Given the description of an element on the screen output the (x, y) to click on. 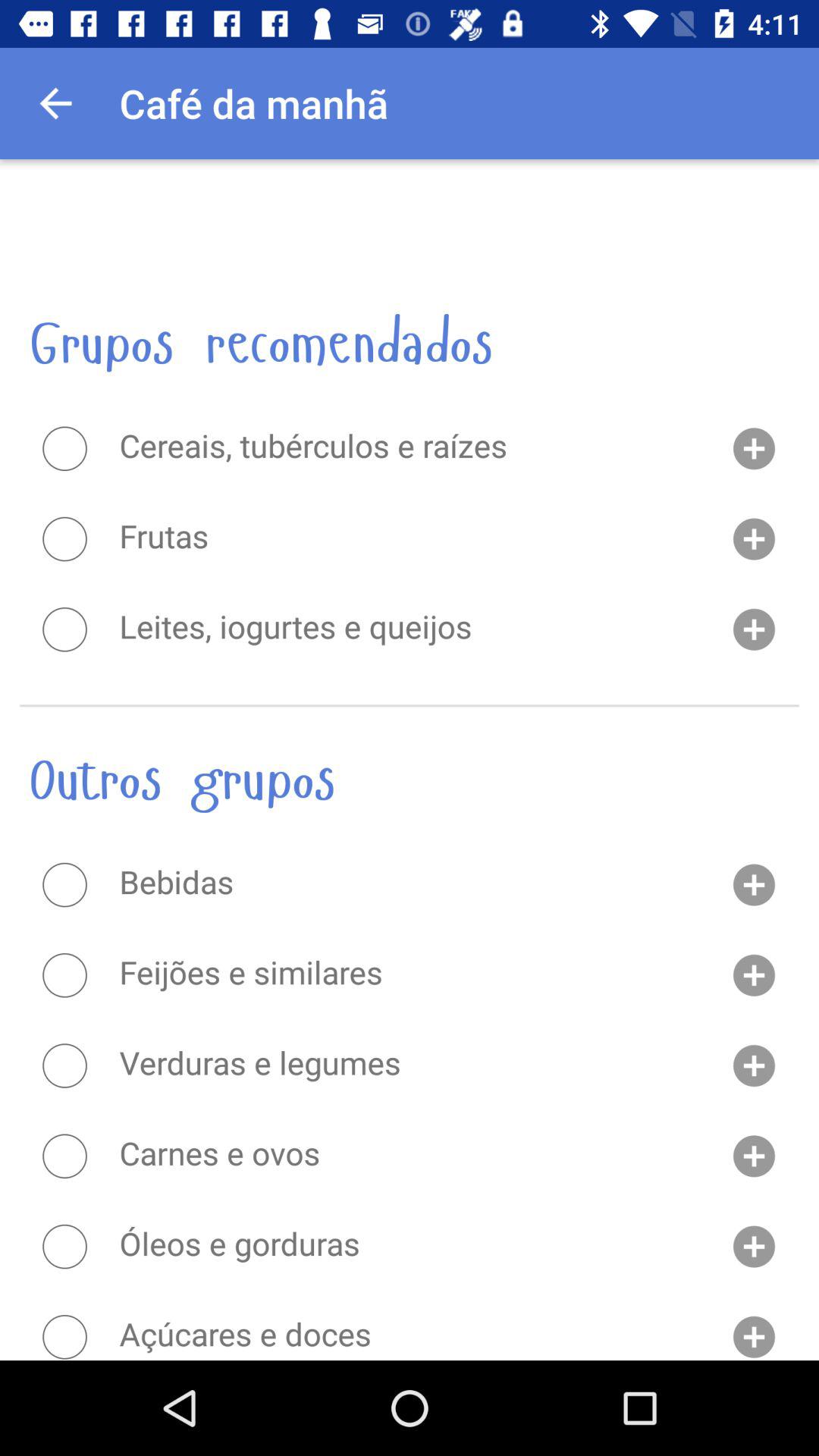
select item (64, 1156)
